Given the description of an element on the screen output the (x, y) to click on. 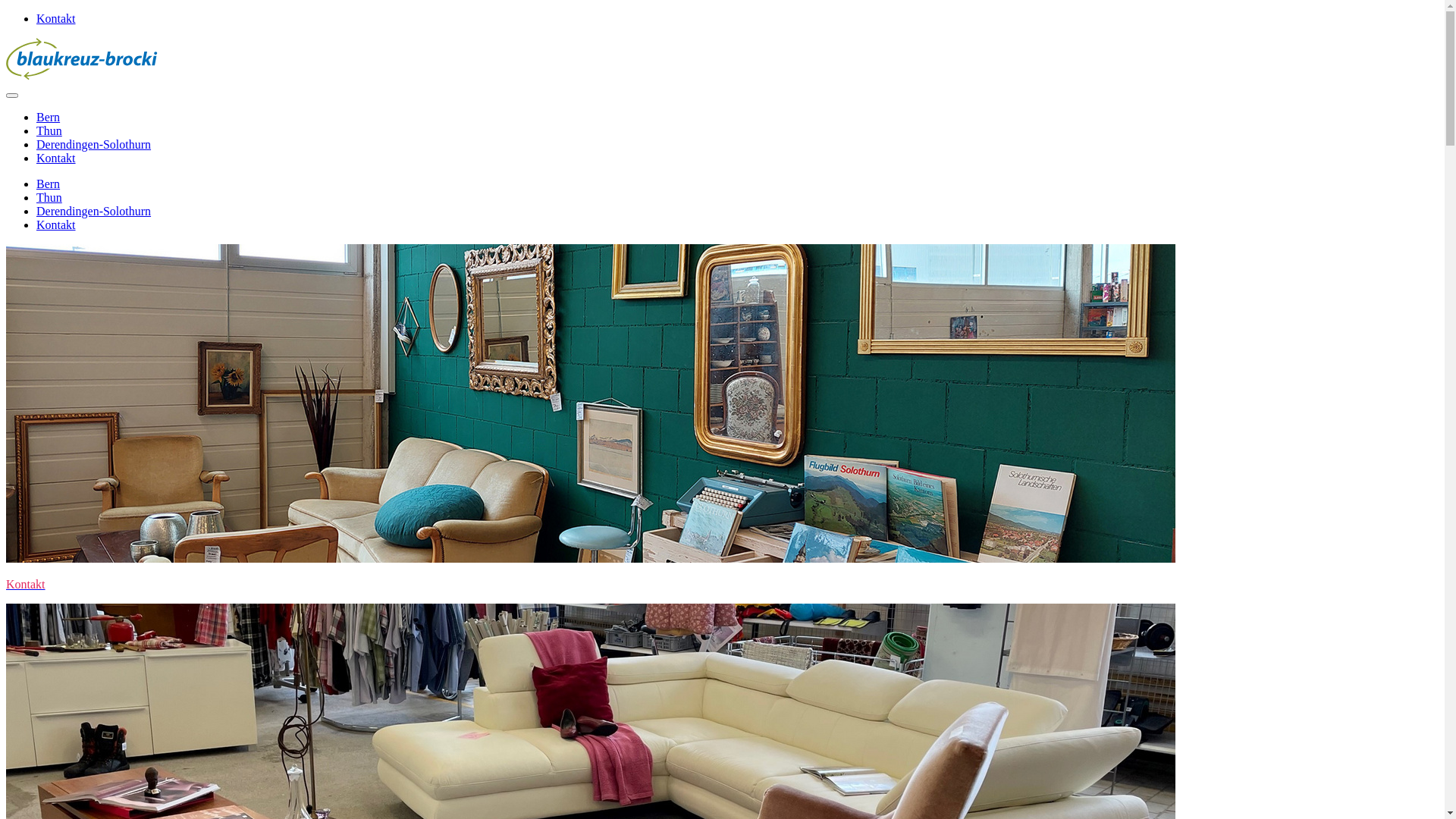
Bern Element type: text (47, 183)
Kontakt Element type: text (55, 18)
Thun Element type: text (49, 130)
Bern Element type: text (47, 116)
Derendingen-Solothurn Element type: text (93, 144)
Thun Element type: text (49, 197)
Derendingen-Solothurn Element type: text (93, 210)
Kontakt Element type: text (55, 157)
Kontakt Element type: text (55, 224)
Kontakt Element type: text (722, 584)
